Given the description of an element on the screen output the (x, y) to click on. 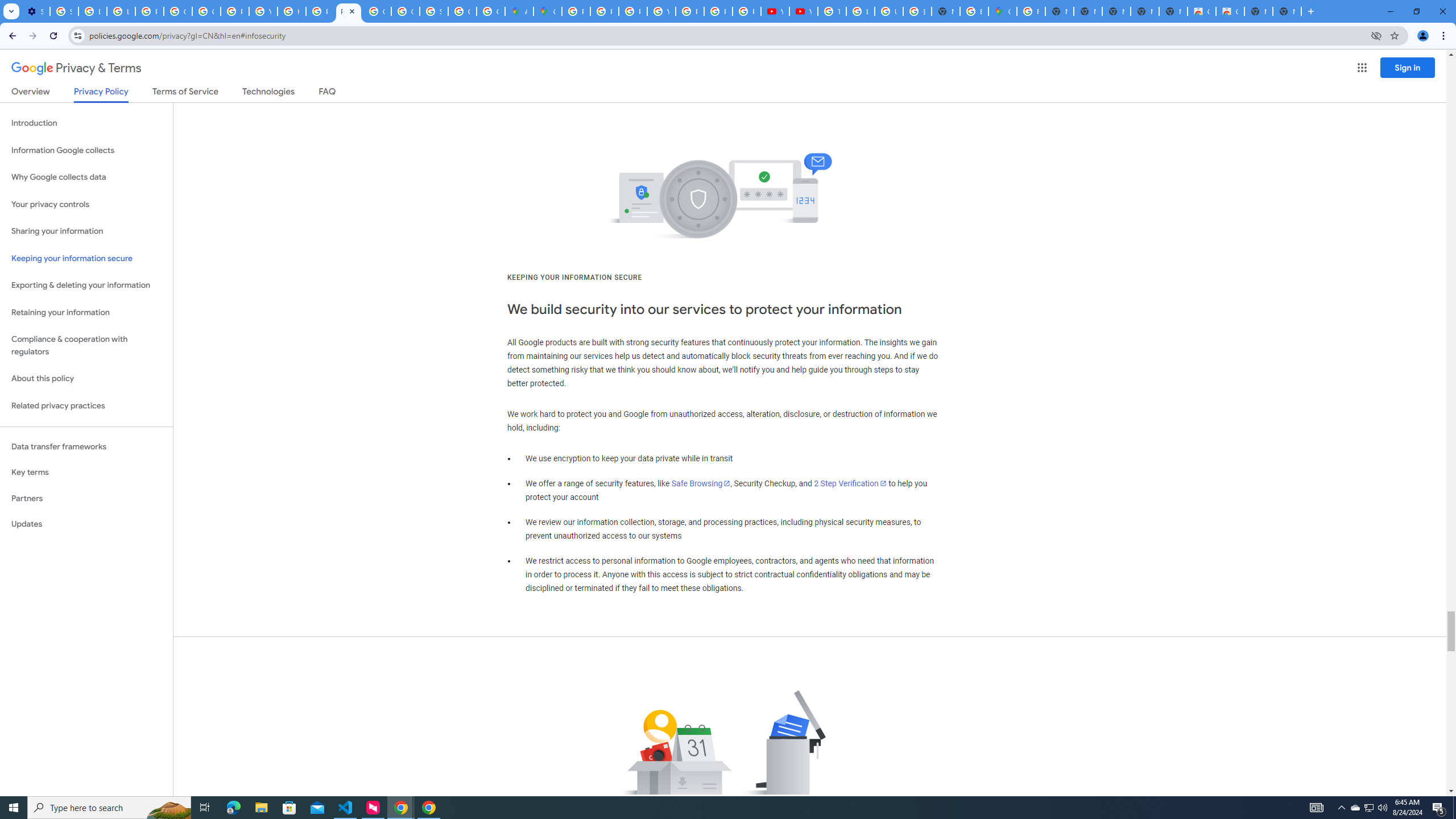
YouTube (263, 11)
Compliance & cooperation with regulators (86, 345)
YouTube (803, 11)
Safe Browsing (700, 483)
Classic Blue - Chrome Web Store (1230, 11)
Why Google collects data (86, 176)
Sign in - Google Accounts (433, 11)
